Given the description of an element on the screen output the (x, y) to click on. 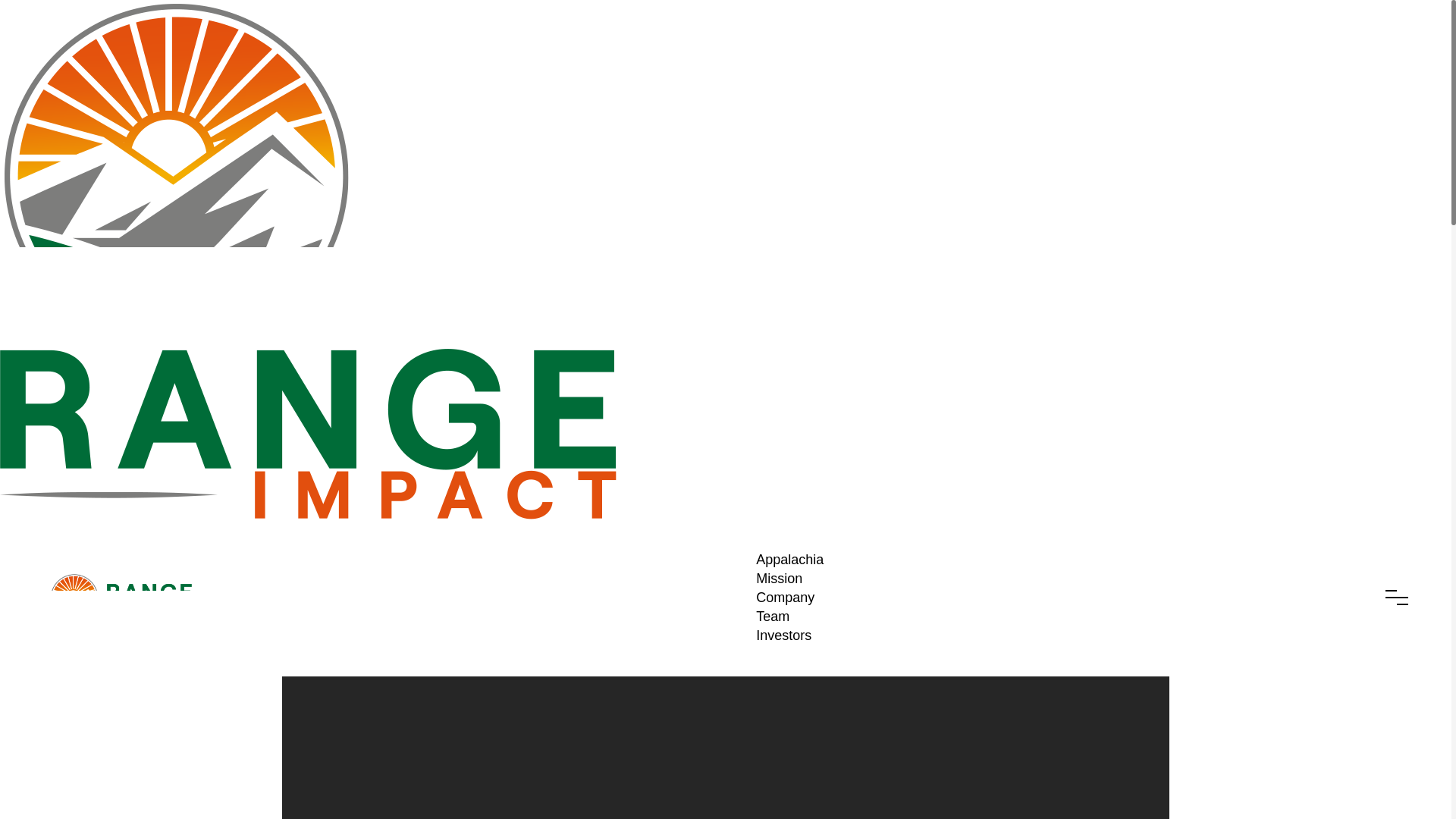
Investors (782, 635)
Team (772, 616)
Appalachia (789, 559)
Mission (778, 578)
Company (784, 597)
